Given the description of an element on the screen output the (x, y) to click on. 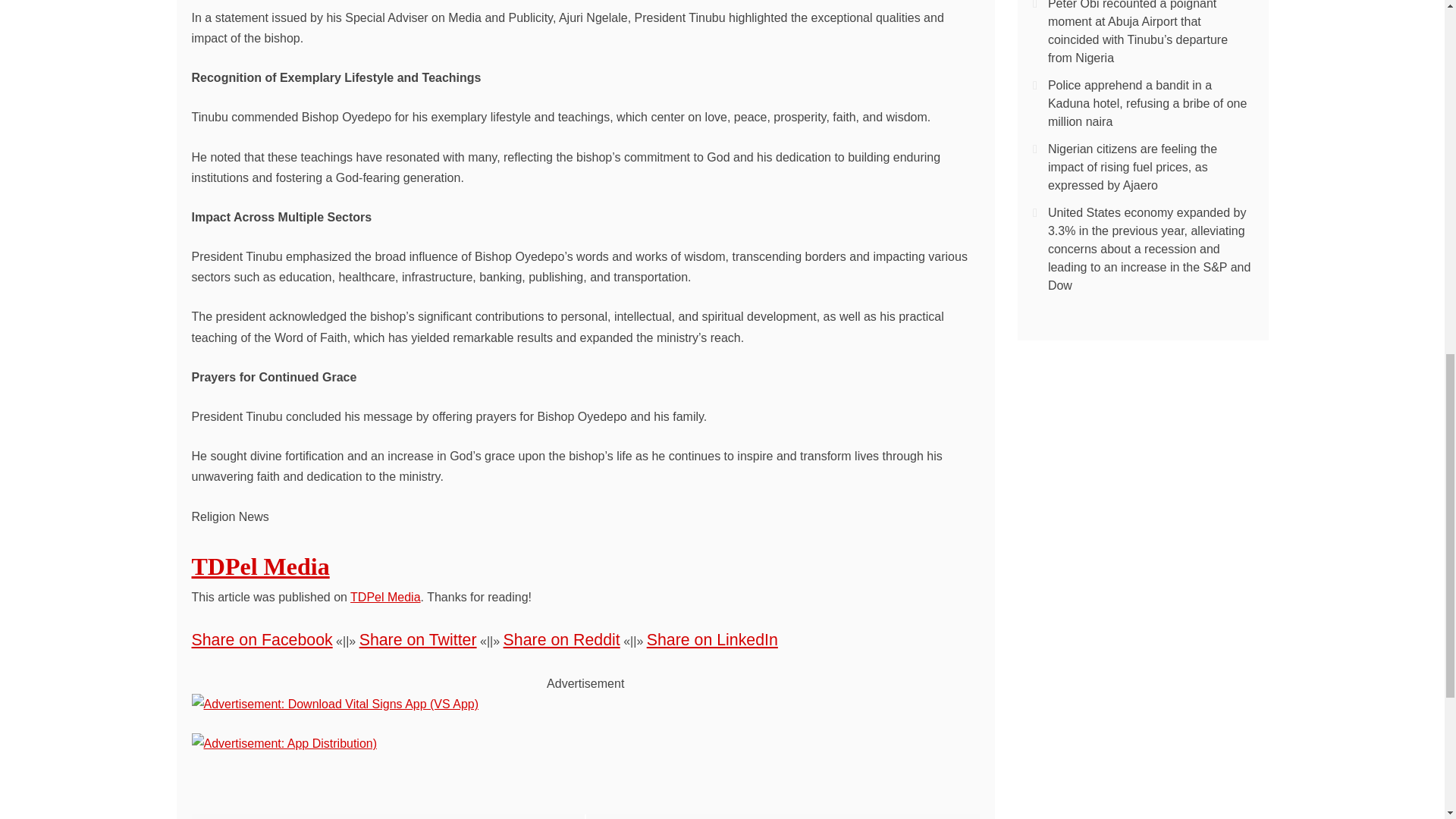
Share on Facebook (260, 639)
TDPel Media (259, 565)
TDPel Media (385, 596)
